Given the description of an element on the screen output the (x, y) to click on. 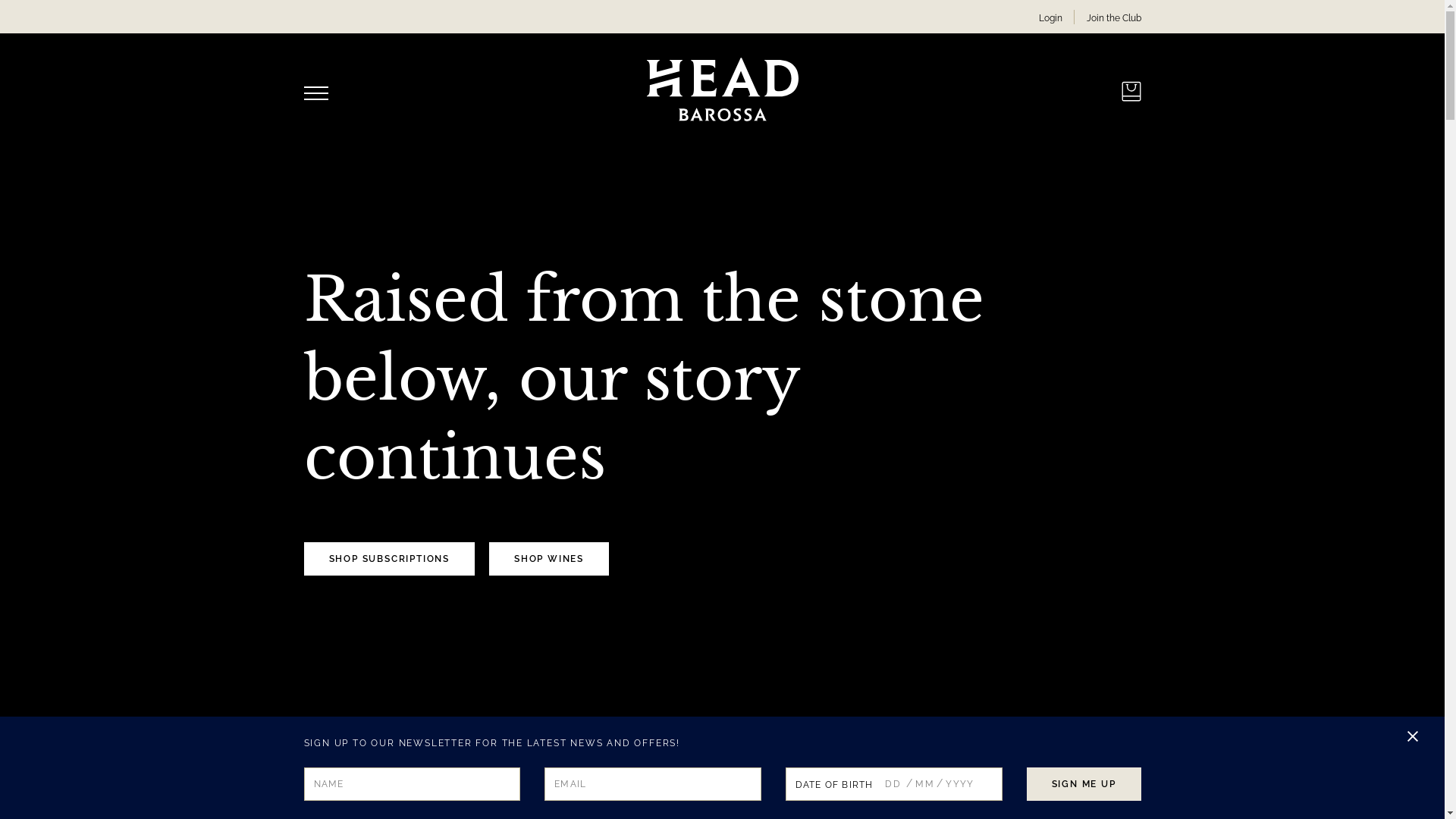
SHOP WINES Element type: text (548, 558)
Login Element type: text (1050, 17)
Raised from the stone below, our story continues Element type: text (643, 378)
Join the Club Element type: text (1112, 17)
SHOP SUBSCRIPTIONS Element type: text (388, 558)
SIGN ME UP Element type: text (1083, 783)
